Given the description of an element on the screen output the (x, y) to click on. 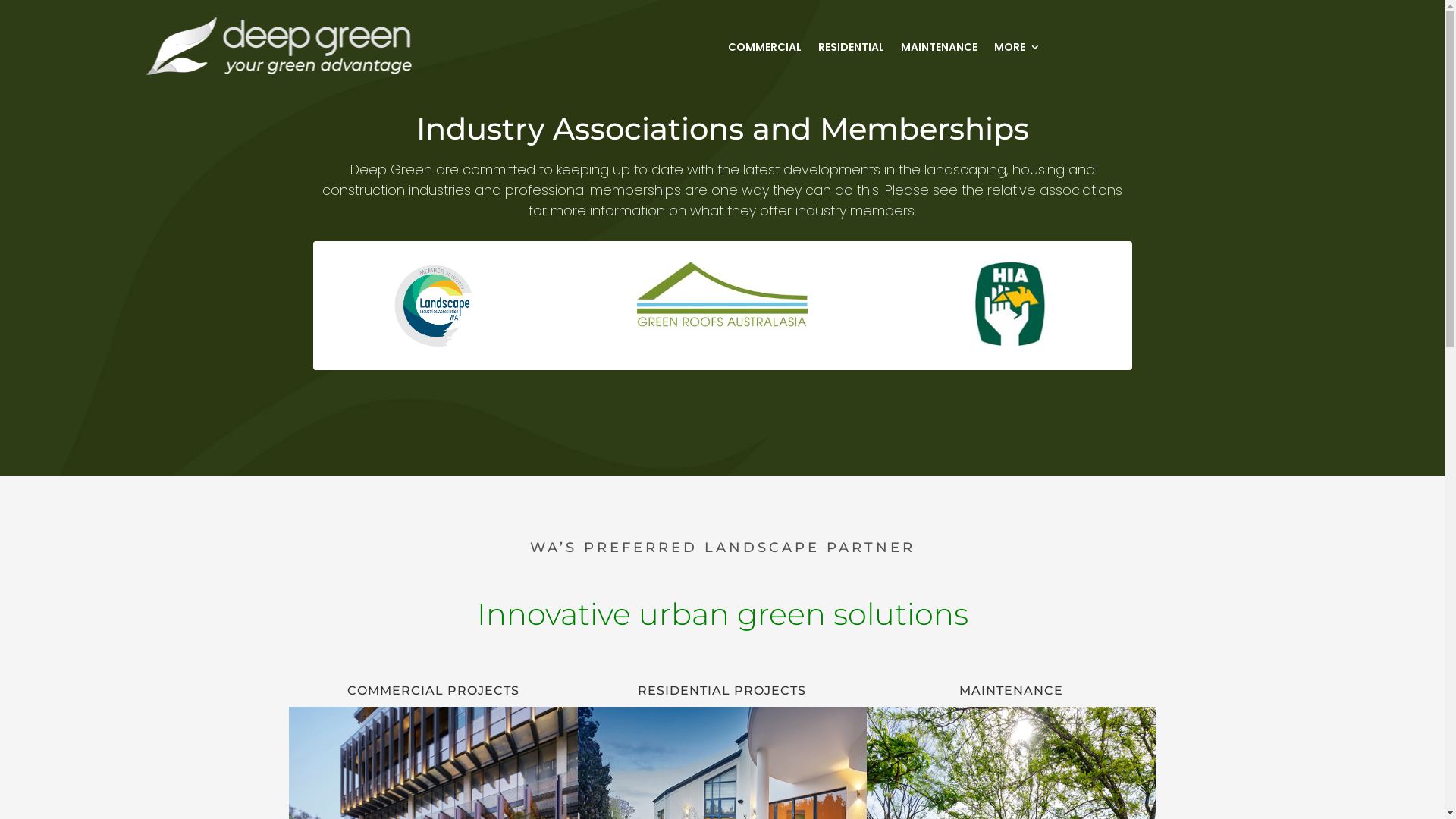
COMMERCIAL Element type: text (764, 46)
RESIDENTIAL Element type: text (851, 46)
MORE Element type: text (1017, 46)
MAINTENANCE Element type: text (938, 46)
